Given the description of an element on the screen output the (x, y) to click on. 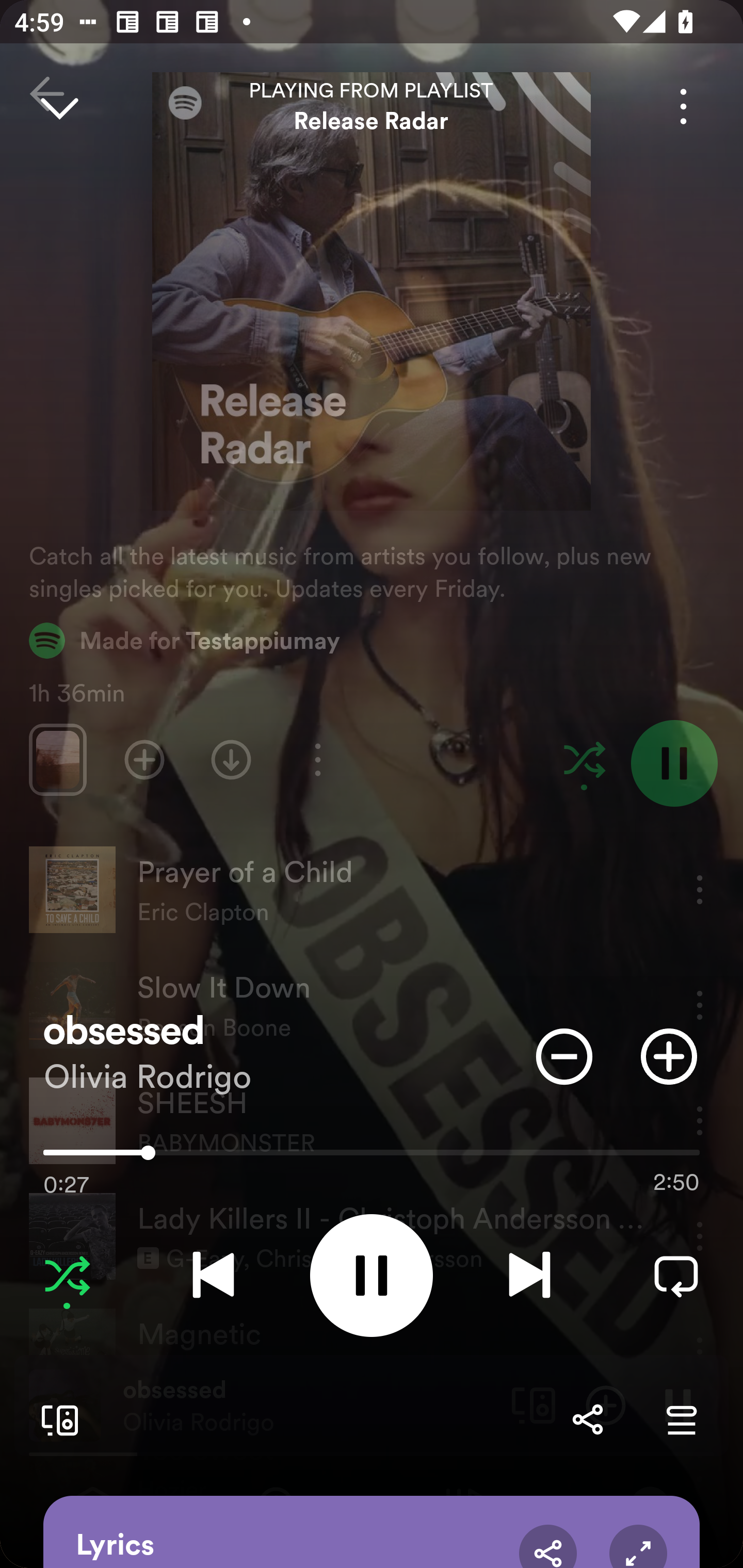
Close (59, 106)
More options for song obsessed (683, 106)
PLAYING FROM PLAYLIST Release Radar (371, 106)
Don't play this (564, 1056)
Add item (669, 1056)
0:26 2:50 26462.0 Use volume keys to adjust (371, 1157)
Pause (371, 1275)
Previous (212, 1275)
Next (529, 1275)
Stop shuffling tracks (66, 1275)
Repeat (676, 1275)
Share (587, 1419)
Go to Queue (681, 1419)
Connect to a device. Opens the devices menu (55, 1419)
Lyrics Share Expand (371, 1531)
Share (547, 1546)
Expand (638, 1546)
